Given the description of an element on the screen output the (x, y) to click on. 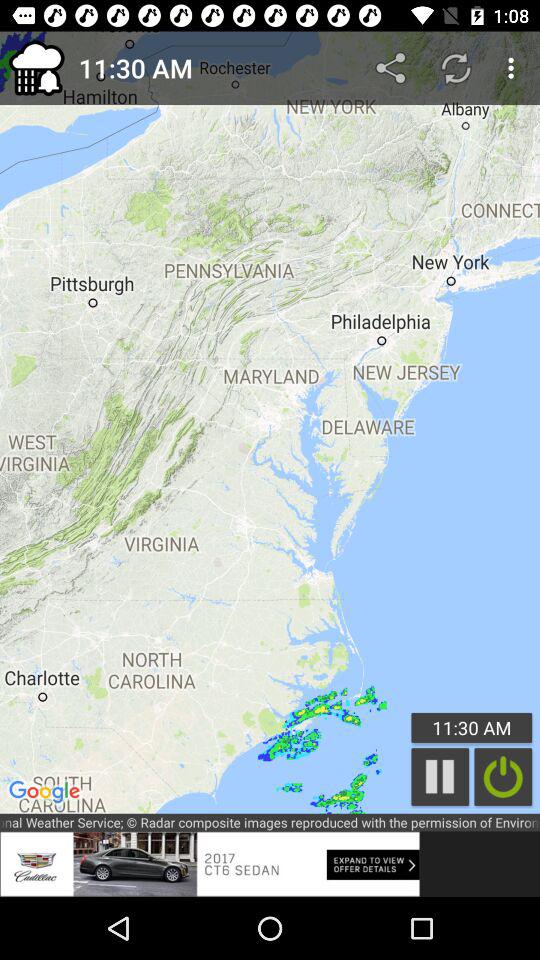
pause button (440, 776)
